Given the description of an element on the screen output the (x, y) to click on. 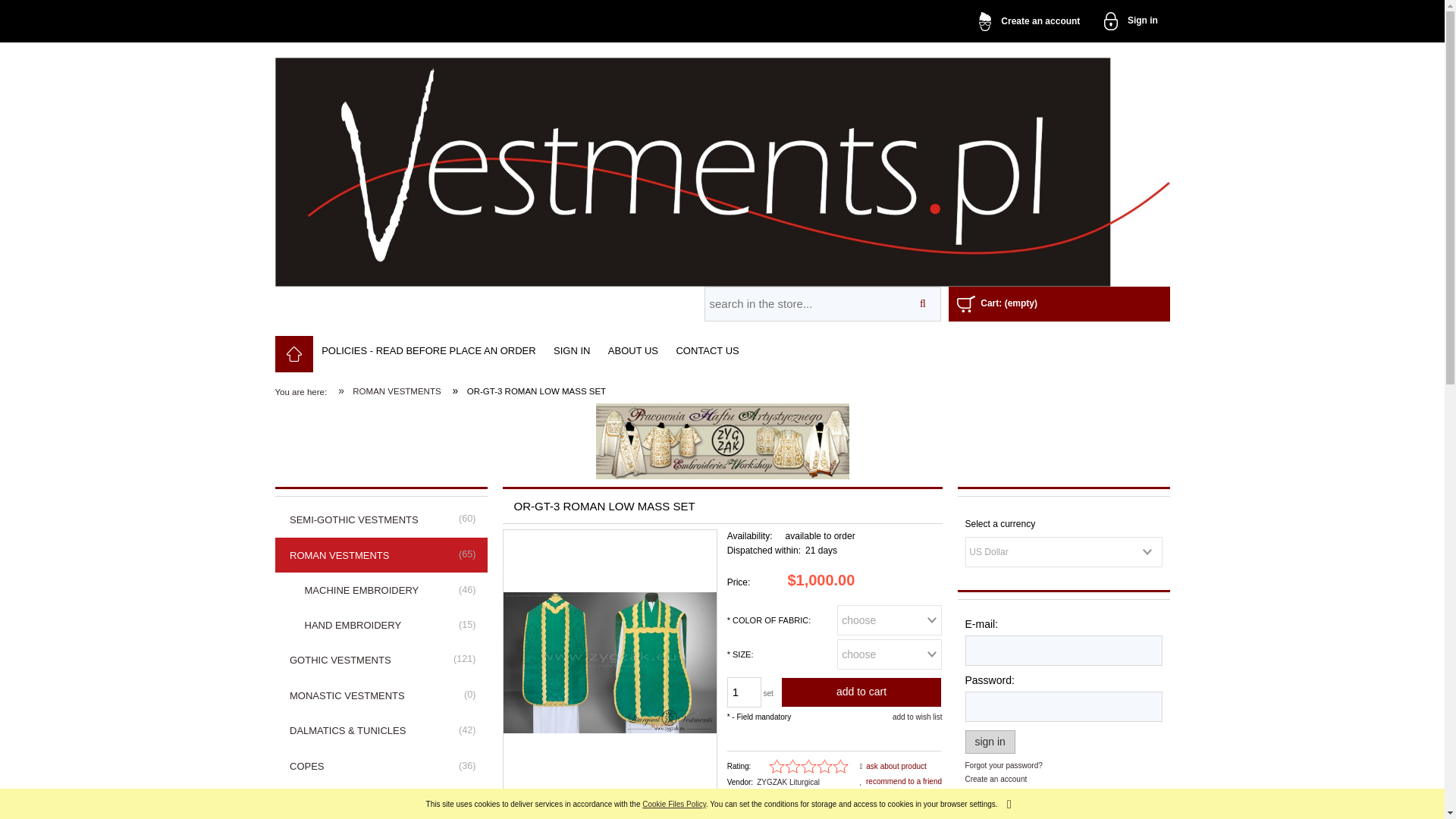
Cart (996, 303)
HAND EMBROIDERY (380, 625)
ROMAN VESTMENTS (380, 555)
Home page (722, 166)
ABOUT US (632, 349)
You are here: (306, 391)
MACHINE EMBROIDERY (380, 590)
SIGN IN (571, 349)
MONASTIC VESTMENTS (380, 695)
Sign in (1131, 20)
